Given the description of an element on the screen output the (x, y) to click on. 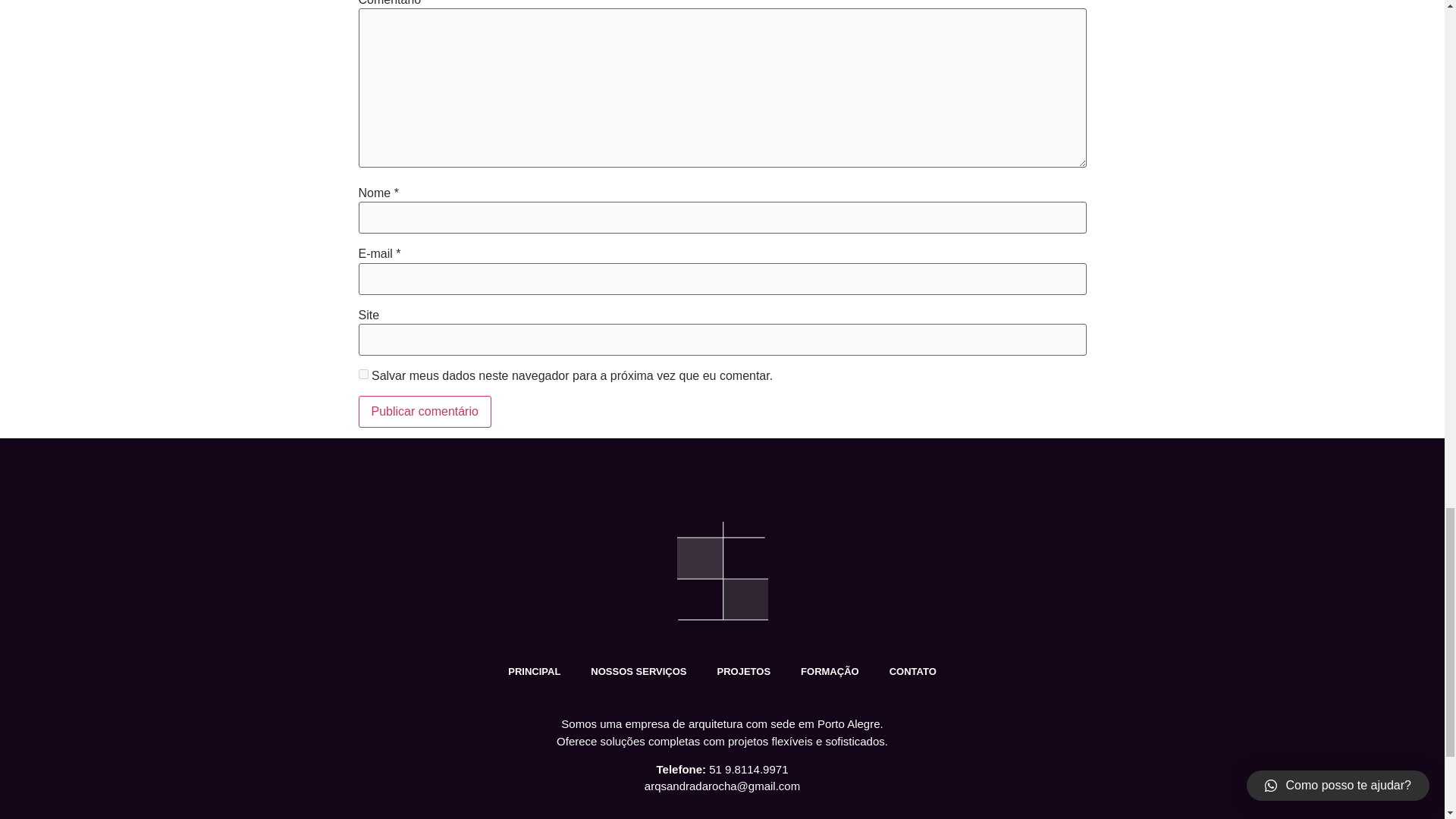
yes (363, 374)
CONTATO (913, 671)
PRINCIPAL (534, 671)
PROJETOS (743, 671)
51 9.8114.9971 (748, 768)
logo-favicon (722, 570)
